Given the description of an element on the screen output the (x, y) to click on. 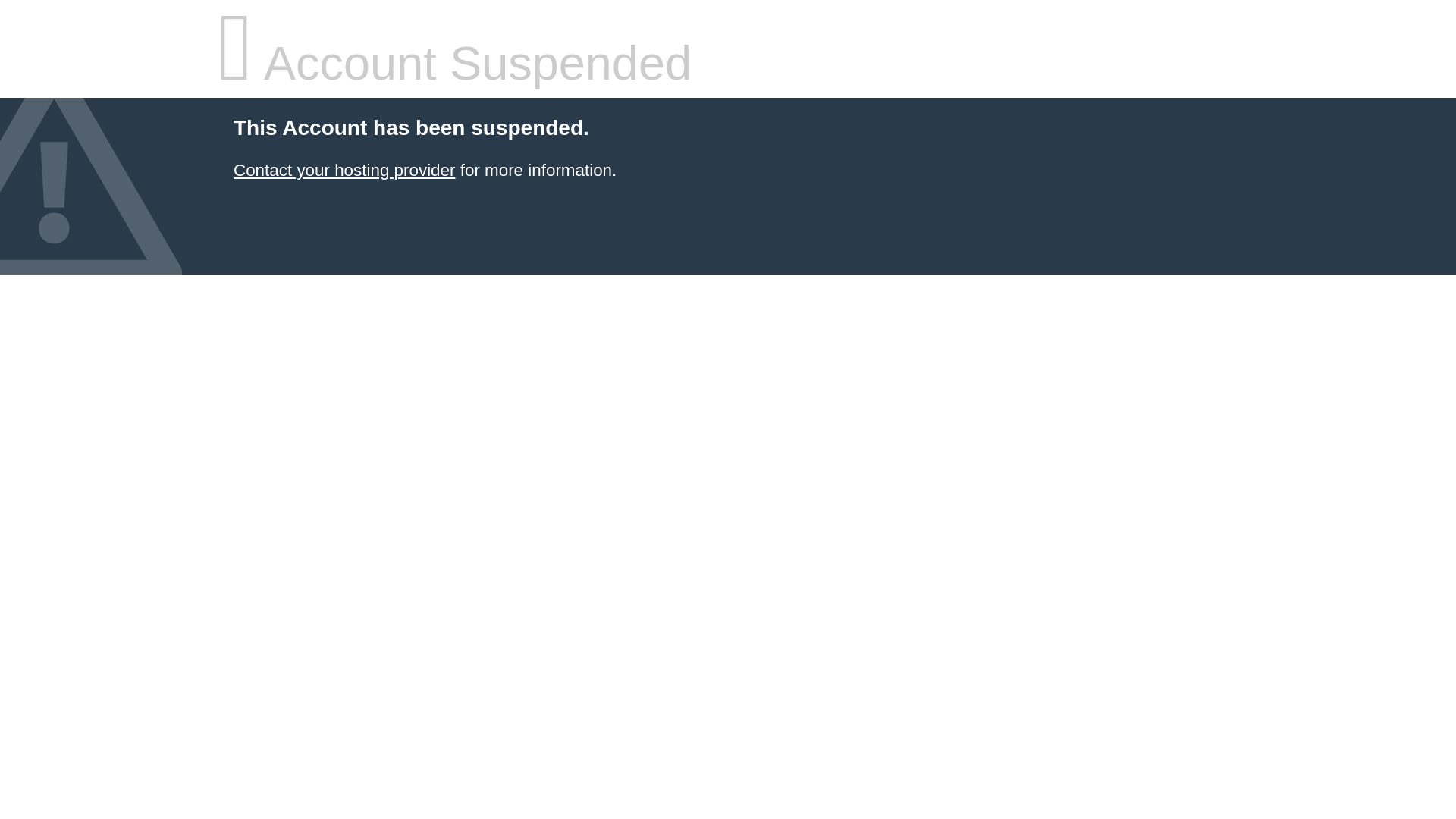
Contact your hosting provider (343, 169)
